Given the description of an element on the screen output the (x, y) to click on. 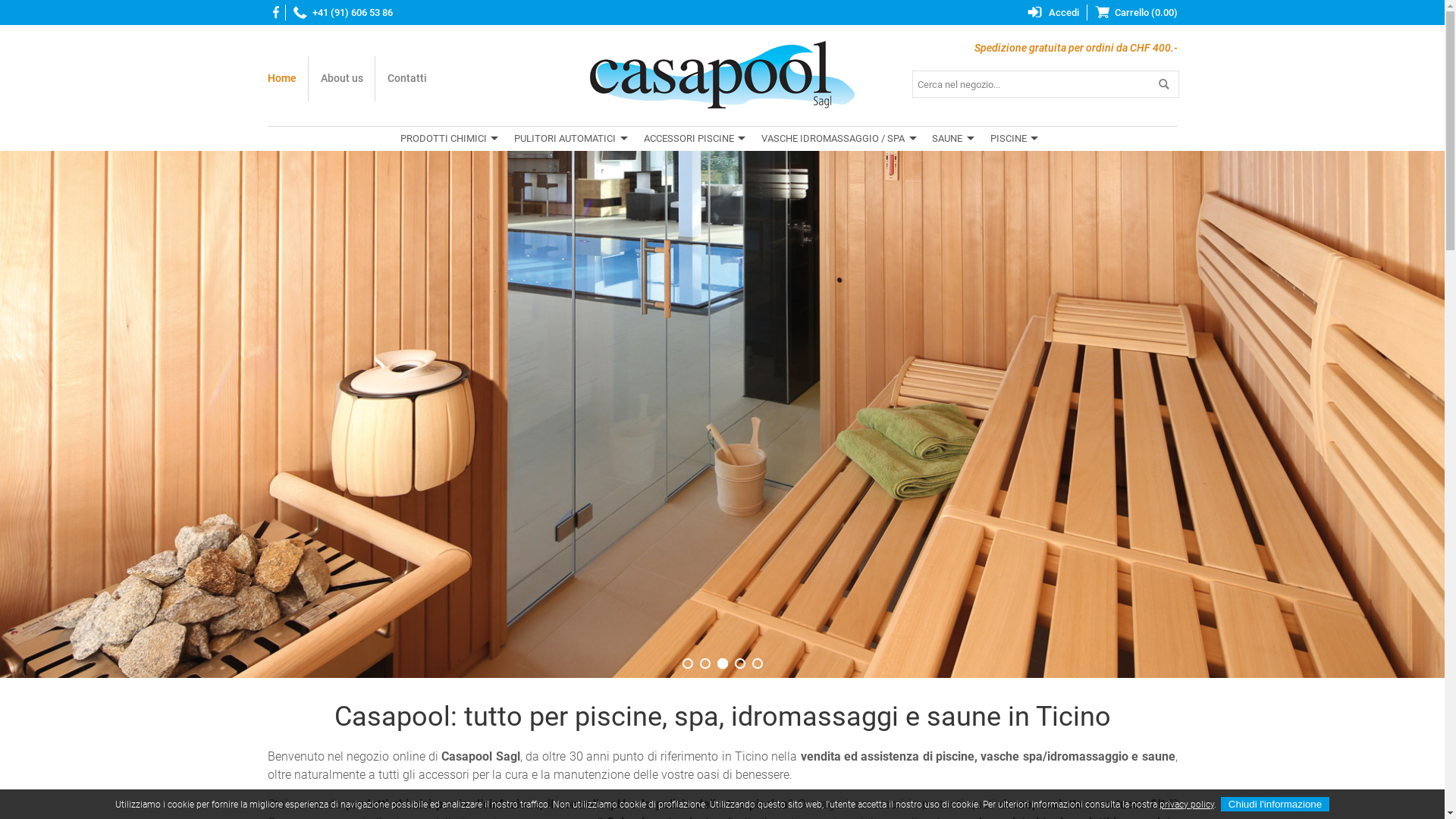
About us Element type: text (340, 78)
Cerca Element type: hover (1164, 84)
PISCINE Element type: text (1012, 138)
Accedi Element type: text (1049, 12)
PULITORI AUTOMATICI Element type: text (568, 138)
Seguici su Facebook Element type: hover (272, 12)
Carrello (0.00) Element type: text (1130, 12)
Contatti Element type: text (406, 78)
Casapool Online Shop Element type: hover (721, 74)
VASCHE IDROMASSAGGIO / SPA Element type: text (836, 138)
Chiudi l'informazione Element type: text (1274, 804)
Home Element type: text (286, 78)
Chiudi l'informazione Element type: text (1274, 804)
+41 (91) 606 53 86 Element type: text (338, 12)
SAUNE Element type: text (950, 138)
privacy policy Element type: text (1186, 804)
ACCESSORI PISCINE Element type: text (692, 138)
PRODOTTI CHIMICI Element type: text (452, 138)
